Given the description of an element on the screen output the (x, y) to click on. 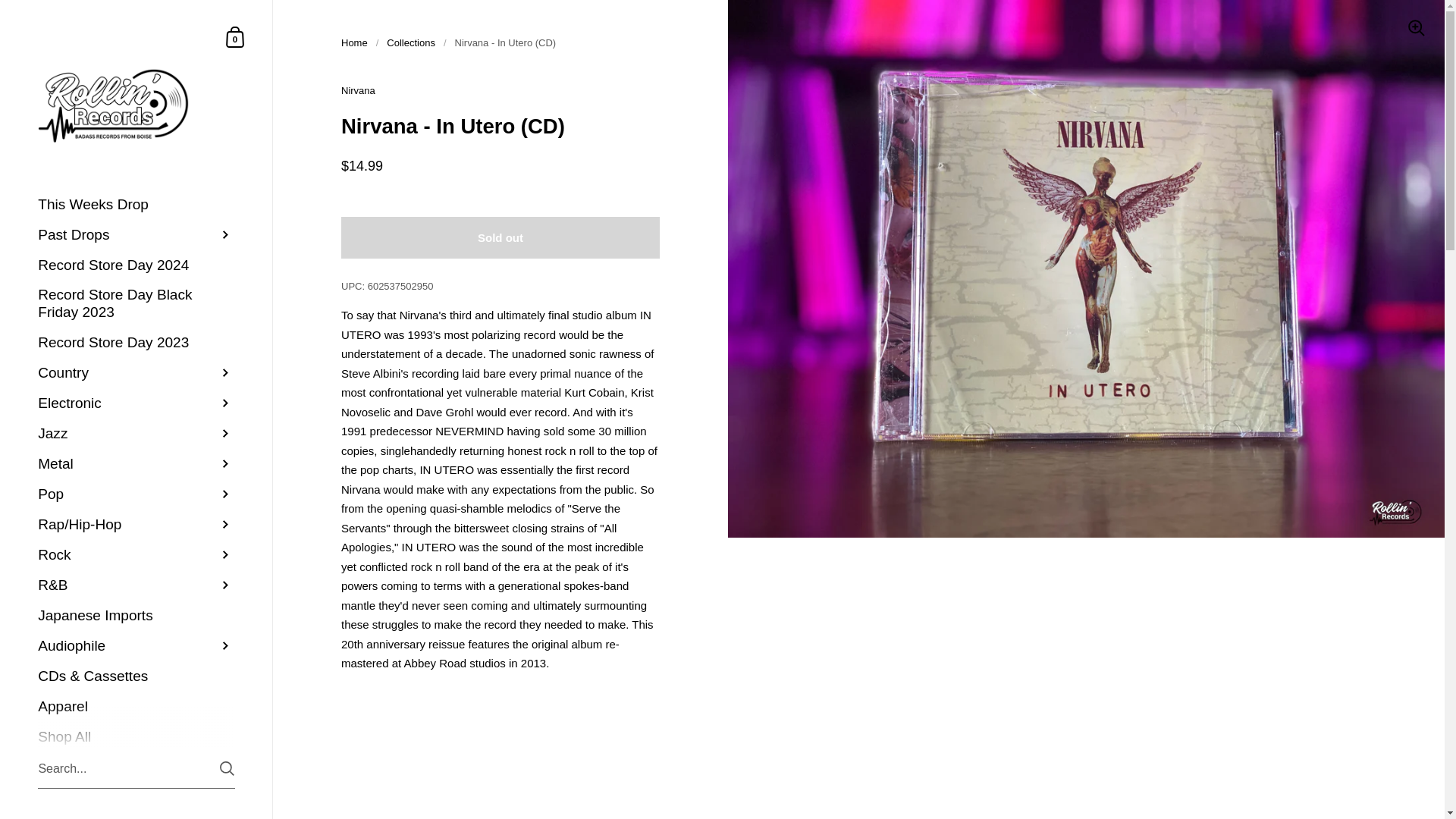
This Weeks Drop (136, 204)
Shopping Cart (235, 35)
Past Drops (235, 35)
